Given the description of an element on the screen output the (x, y) to click on. 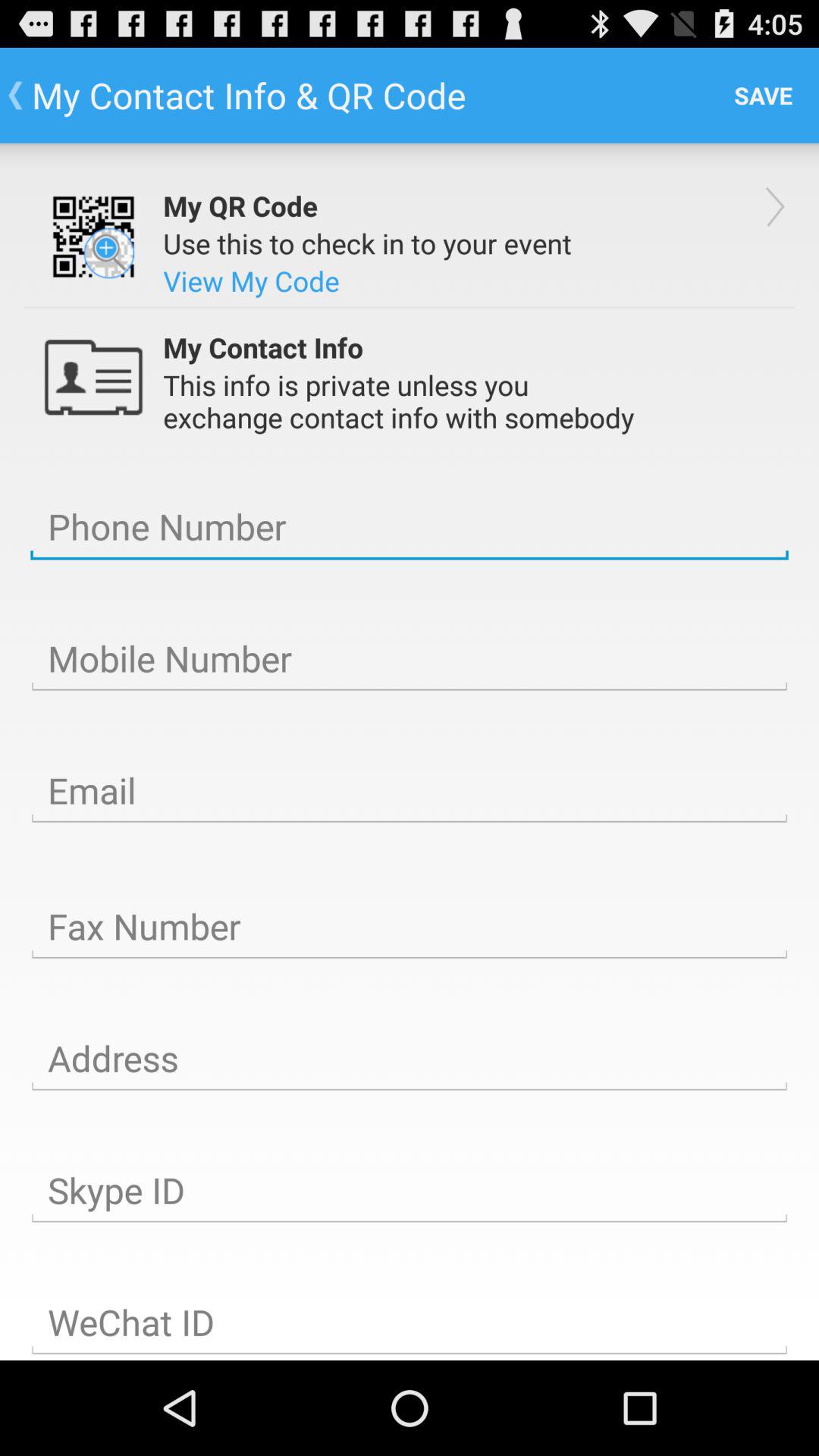
enter wechat id (409, 1321)
